Given the description of an element on the screen output the (x, y) to click on. 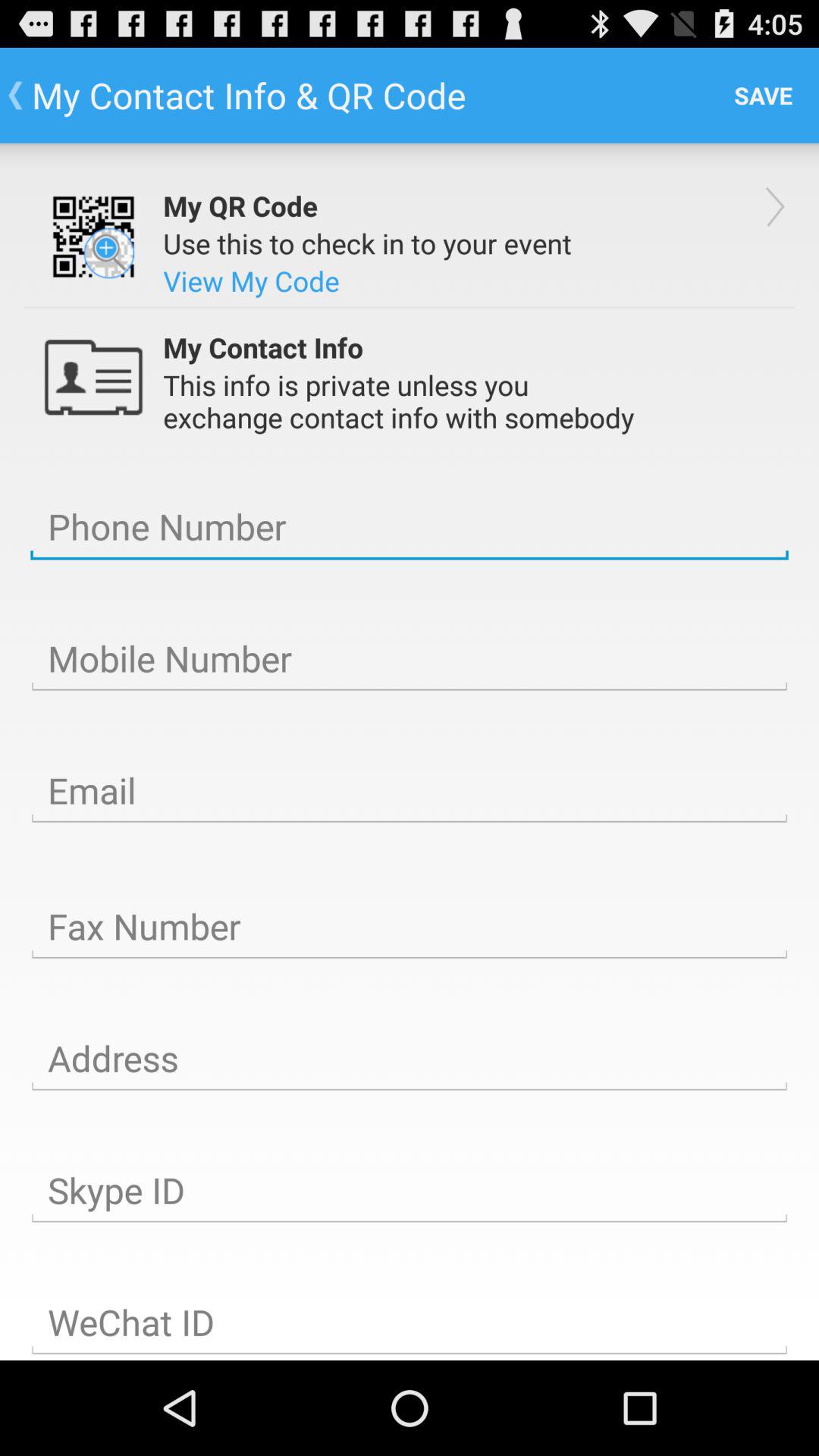
enter wechat id (409, 1321)
